Given the description of an element on the screen output the (x, y) to click on. 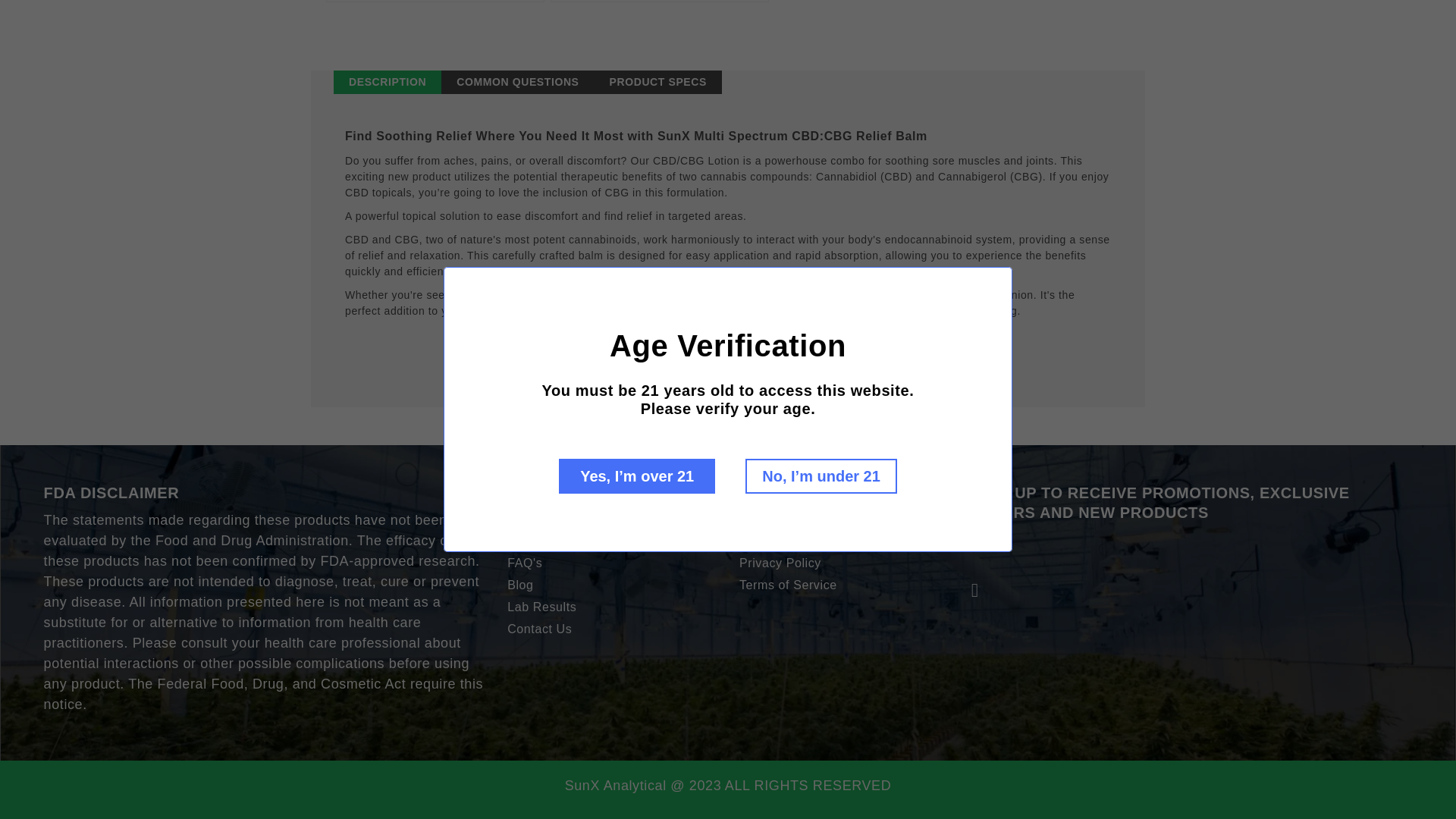
Open media 2 in modal (435, 1)
